Given the description of an element on the screen output the (x, y) to click on. 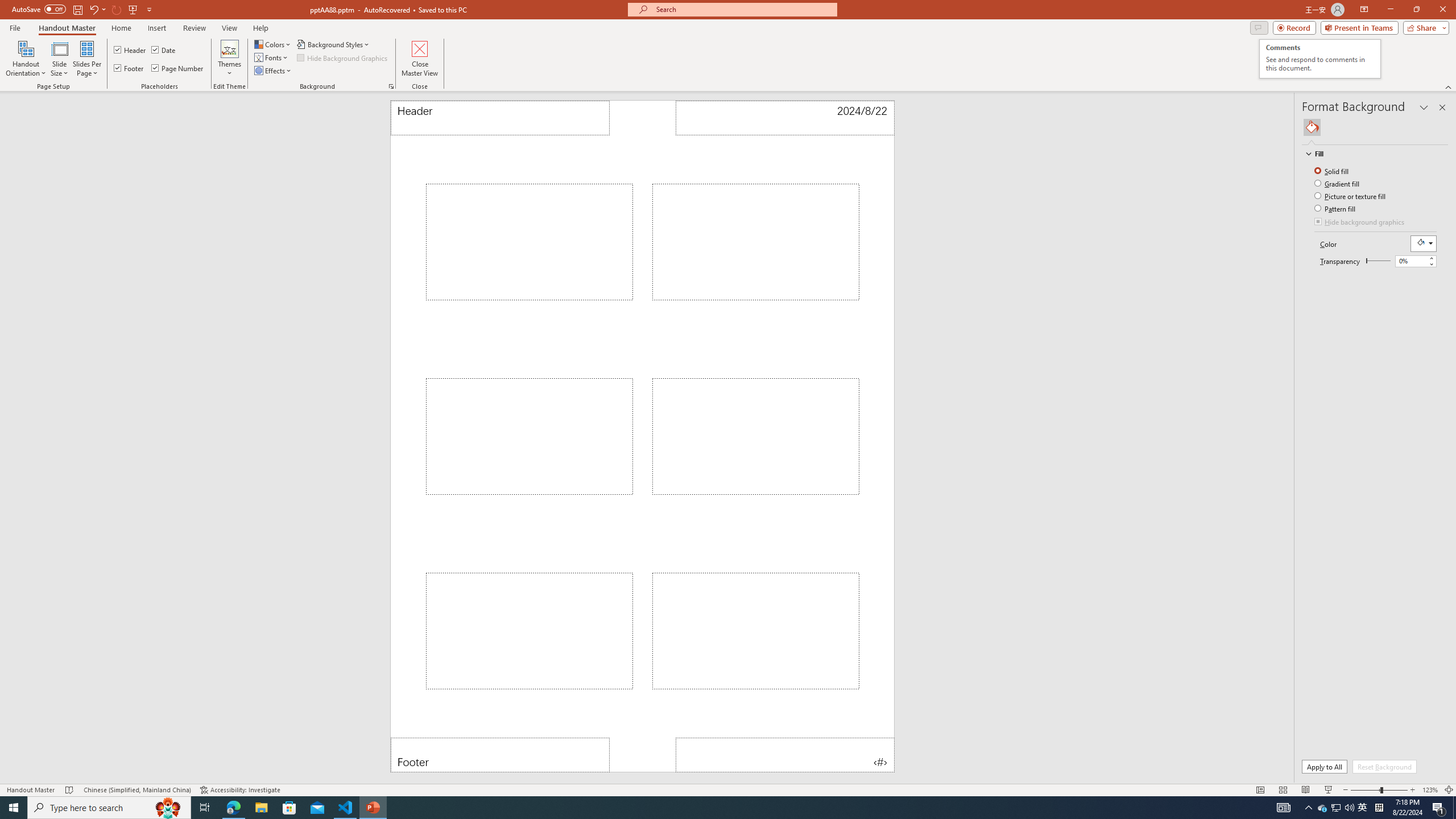
Close Master View (419, 58)
Transparency (1377, 260)
Colors (272, 44)
Hide Background Graphics (343, 56)
Transparency (1415, 260)
